Given the description of an element on the screen output the (x, y) to click on. 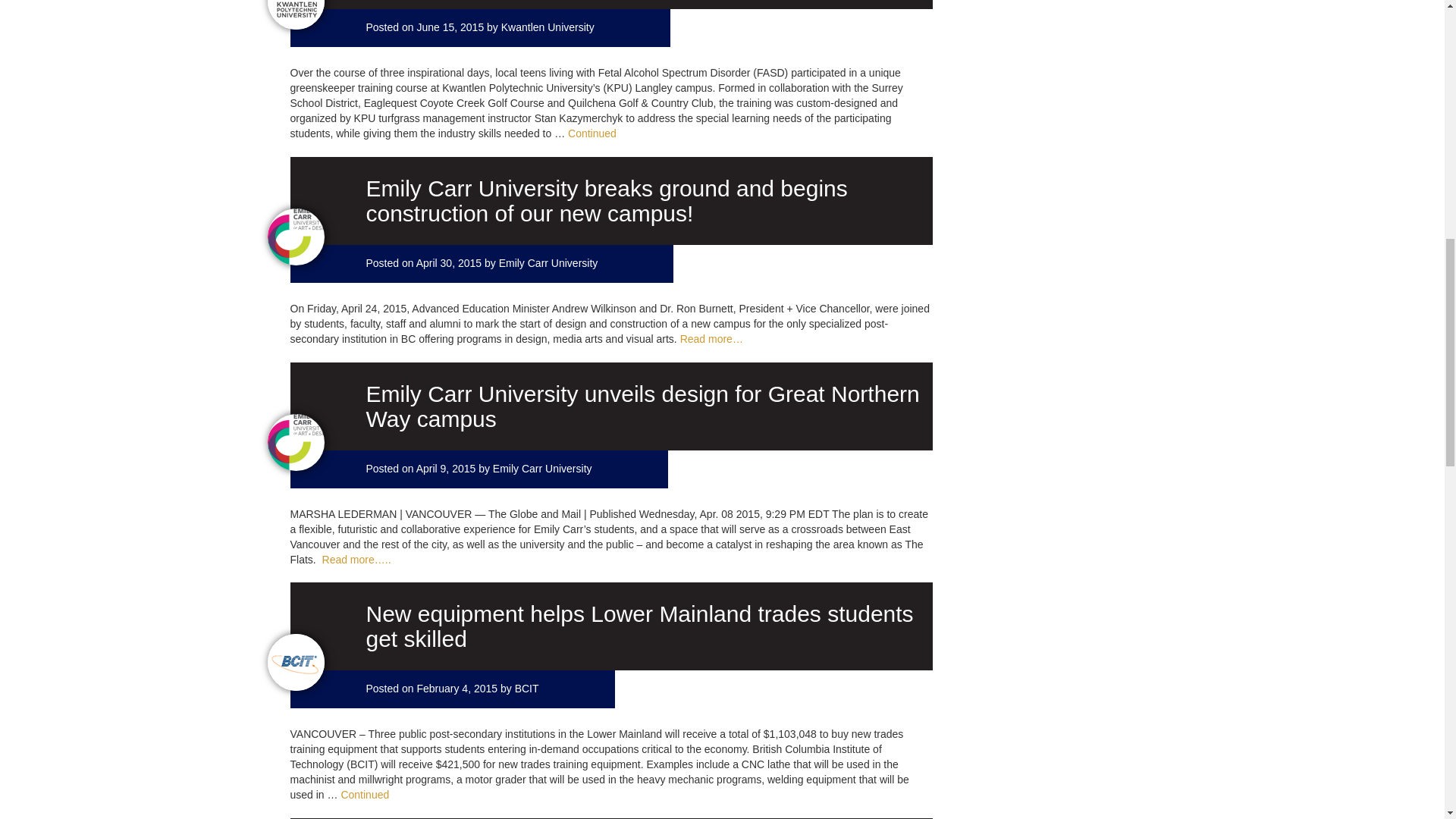
Emily Carr University (542, 468)
Continued (591, 133)
BCIT (526, 688)
Continued (364, 794)
Emily Carr University (548, 263)
Kwantlen University (547, 27)
